Given the description of an element on the screen output the (x, y) to click on. 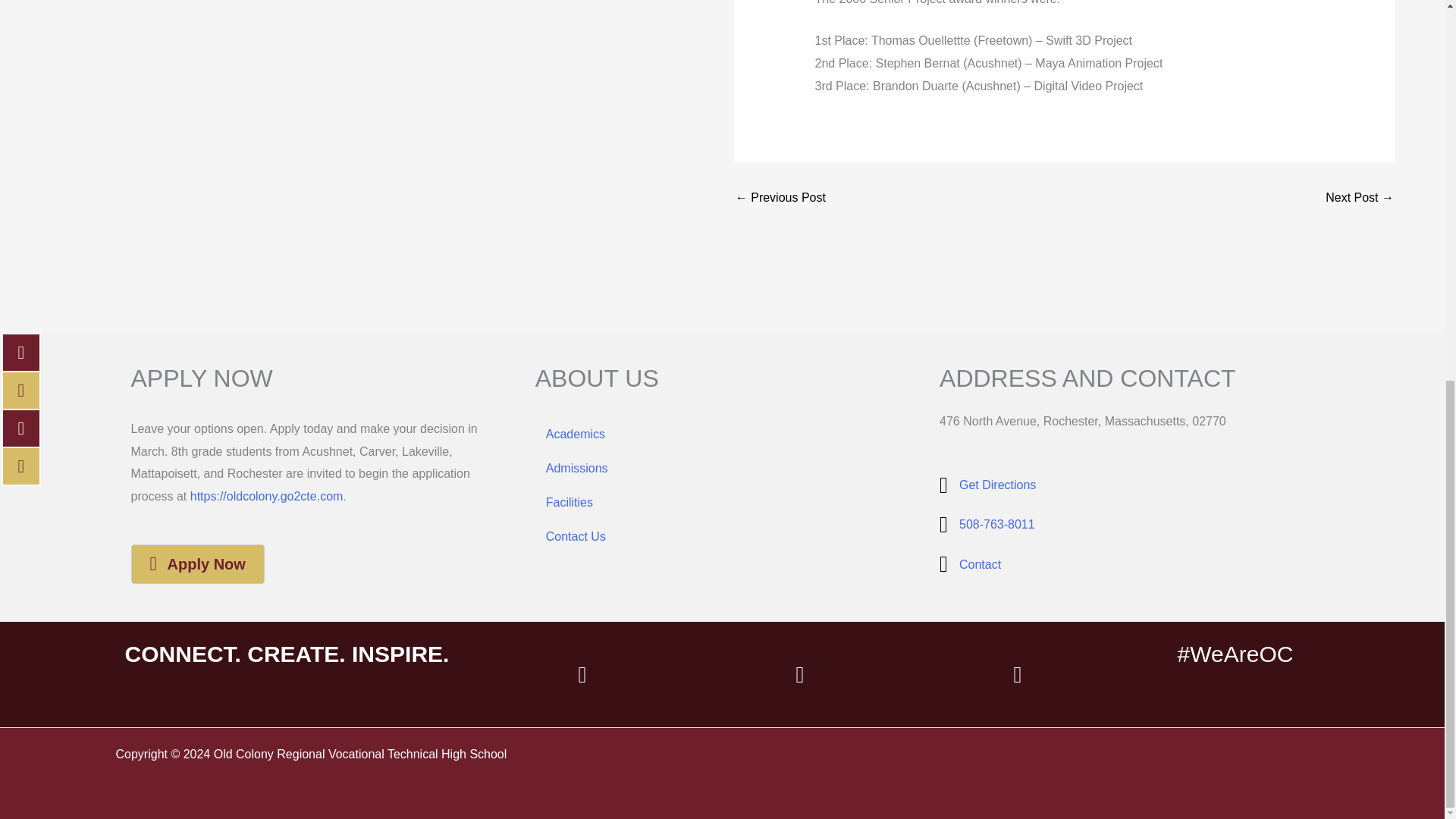
Outstanding Voc-Tech" student named (780, 197)
Economics students tour NB facility (1358, 197)
